Given the description of an element on the screen output the (x, y) to click on. 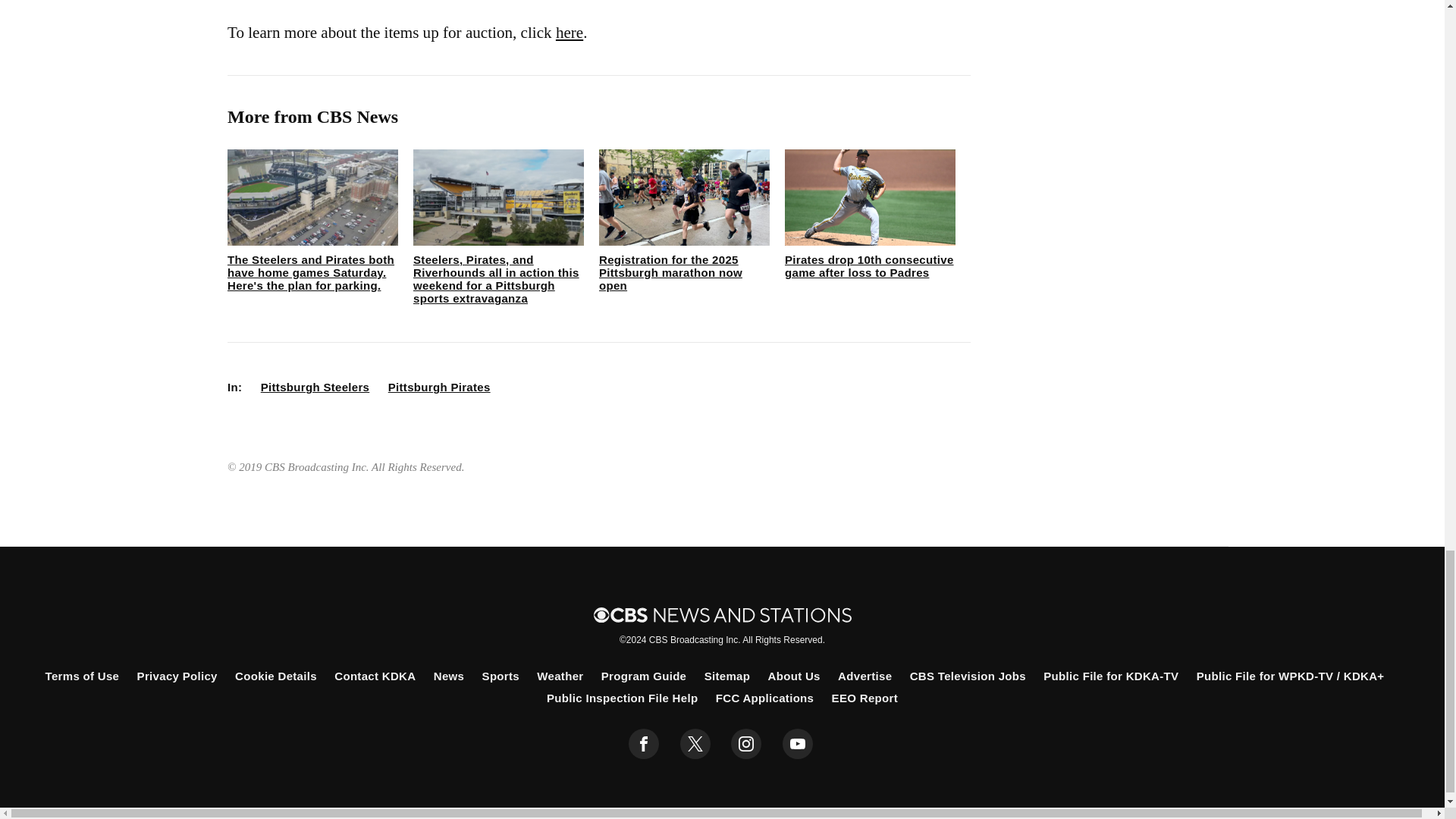
instagram (745, 743)
youtube (797, 743)
twitter (694, 743)
facebook (643, 743)
